Given the description of an element on the screen output the (x, y) to click on. 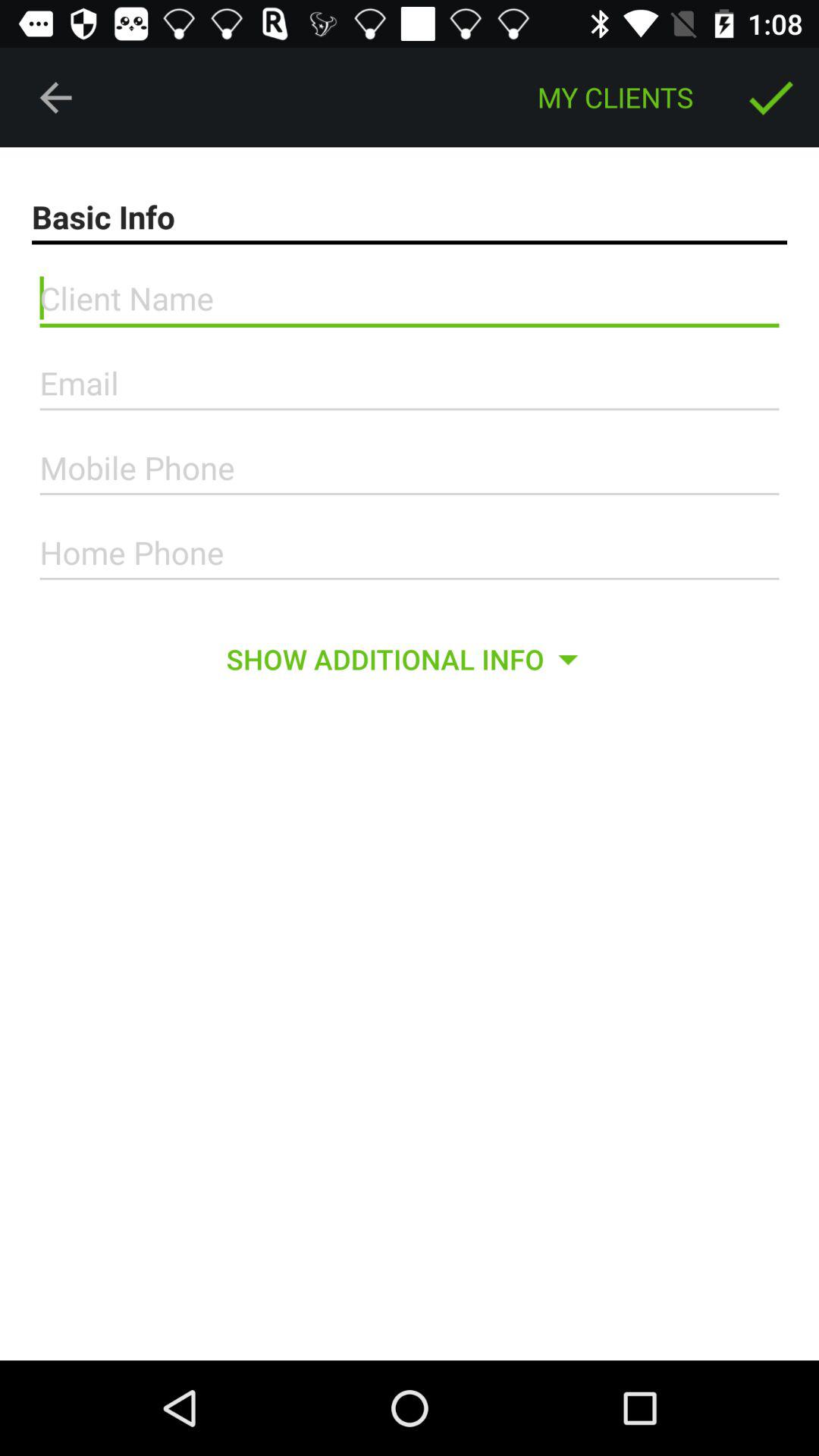
press item next to my clients icon (771, 97)
